Given the description of an element on the screen output the (x, y) to click on. 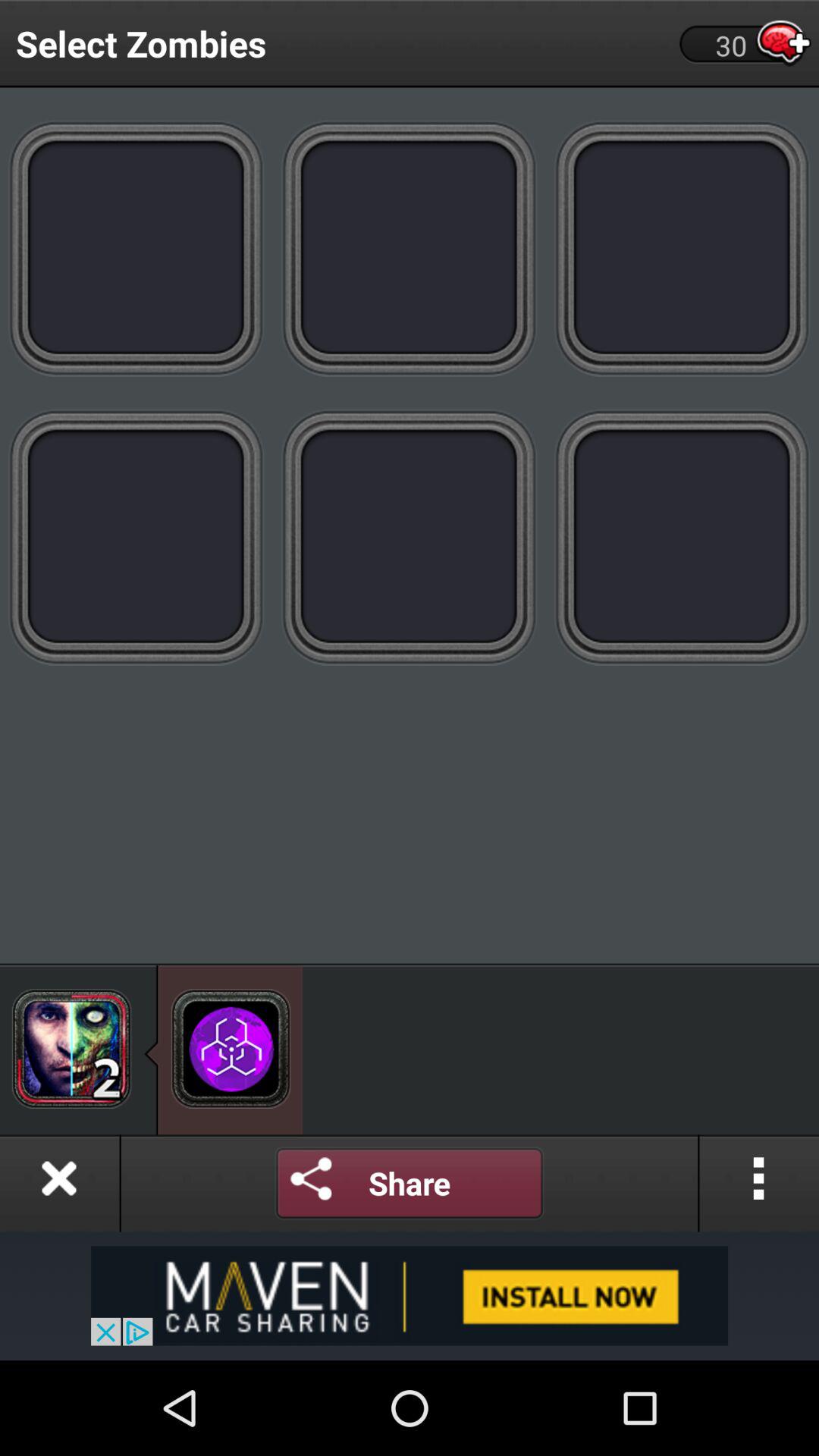
choose zombie type (136, 247)
